Given the description of an element on the screen output the (x, y) to click on. 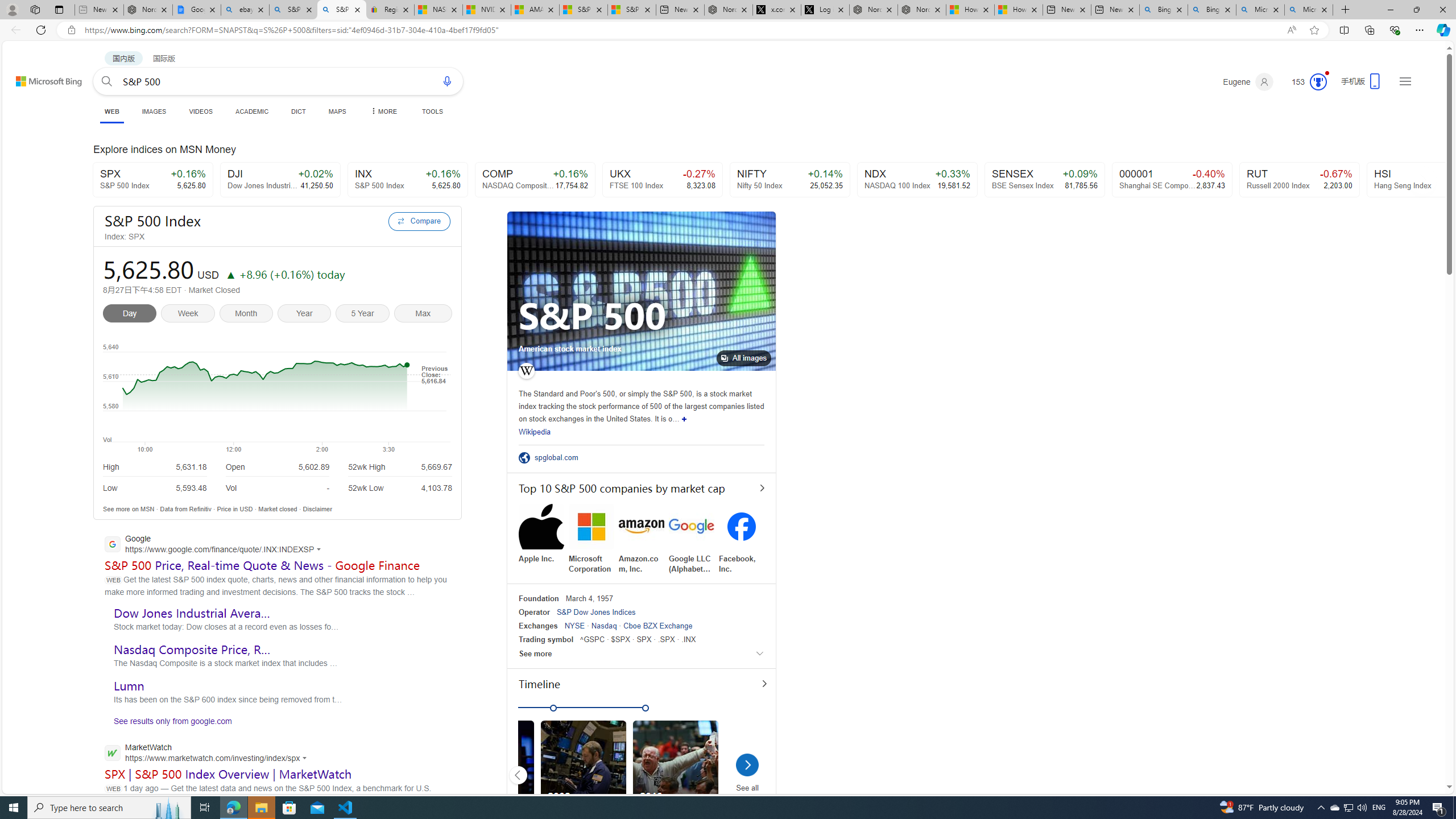
Microsoft Corporation (591, 538)
AutomationID: mfa_root (1406, 752)
Facebook, Inc. (741, 538)
Day (132, 314)
ACADEMIC (252, 111)
MSN (146, 508)
TOOLS (431, 111)
Facebook, Inc. (741, 538)
All images (641, 291)
TOOLS (431, 111)
Month (248, 314)
